Given the description of an element on the screen output the (x, y) to click on. 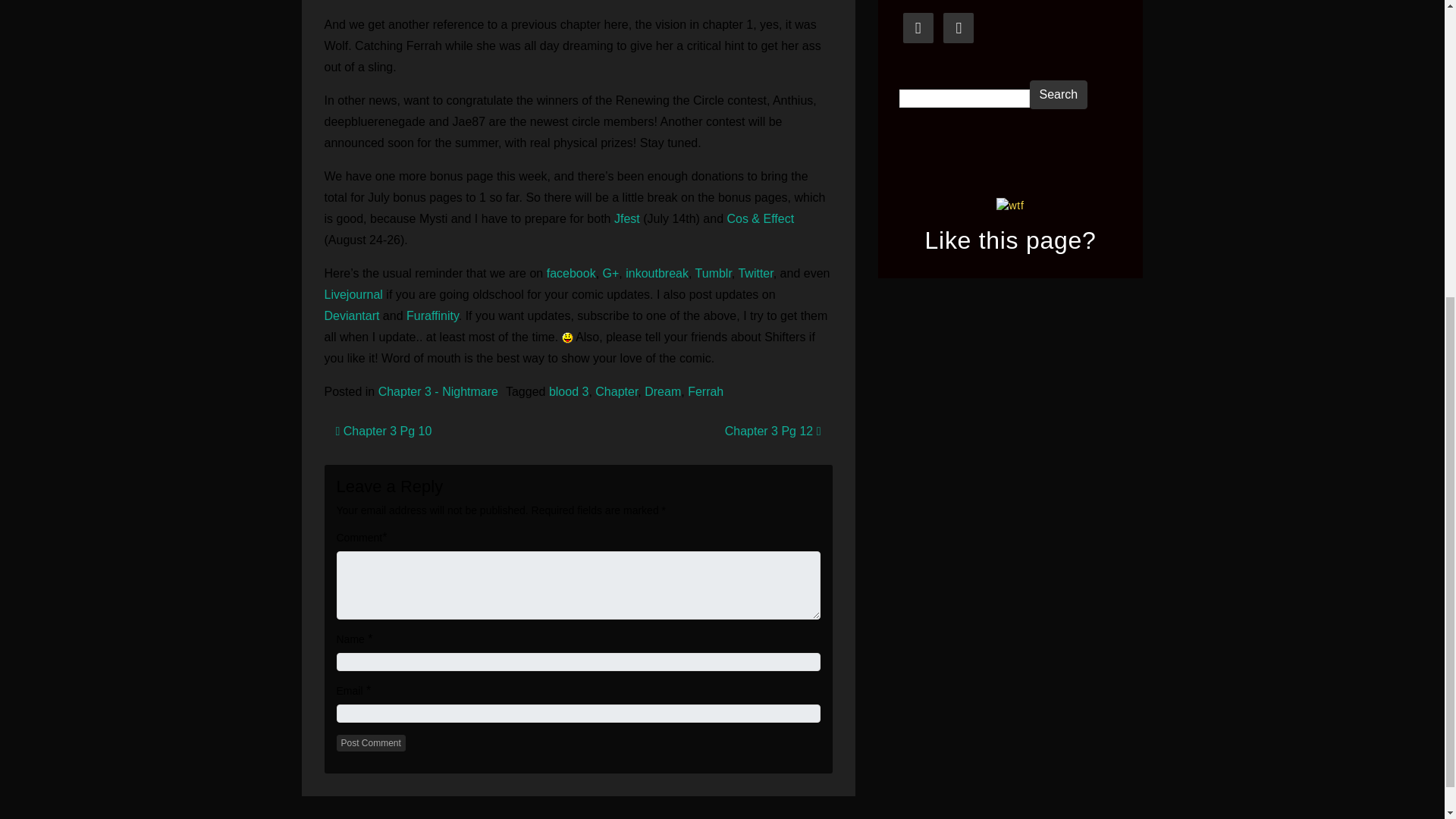
facebook (571, 273)
Tumblr (713, 273)
blood 3 (568, 391)
Dream (663, 391)
Twitter (755, 273)
Livejournal (355, 294)
Post Comment (371, 742)
Jfest (628, 218)
Furaffinity (432, 315)
Chapter 3 - Nightmare (437, 391)
